Given the description of an element on the screen output the (x, y) to click on. 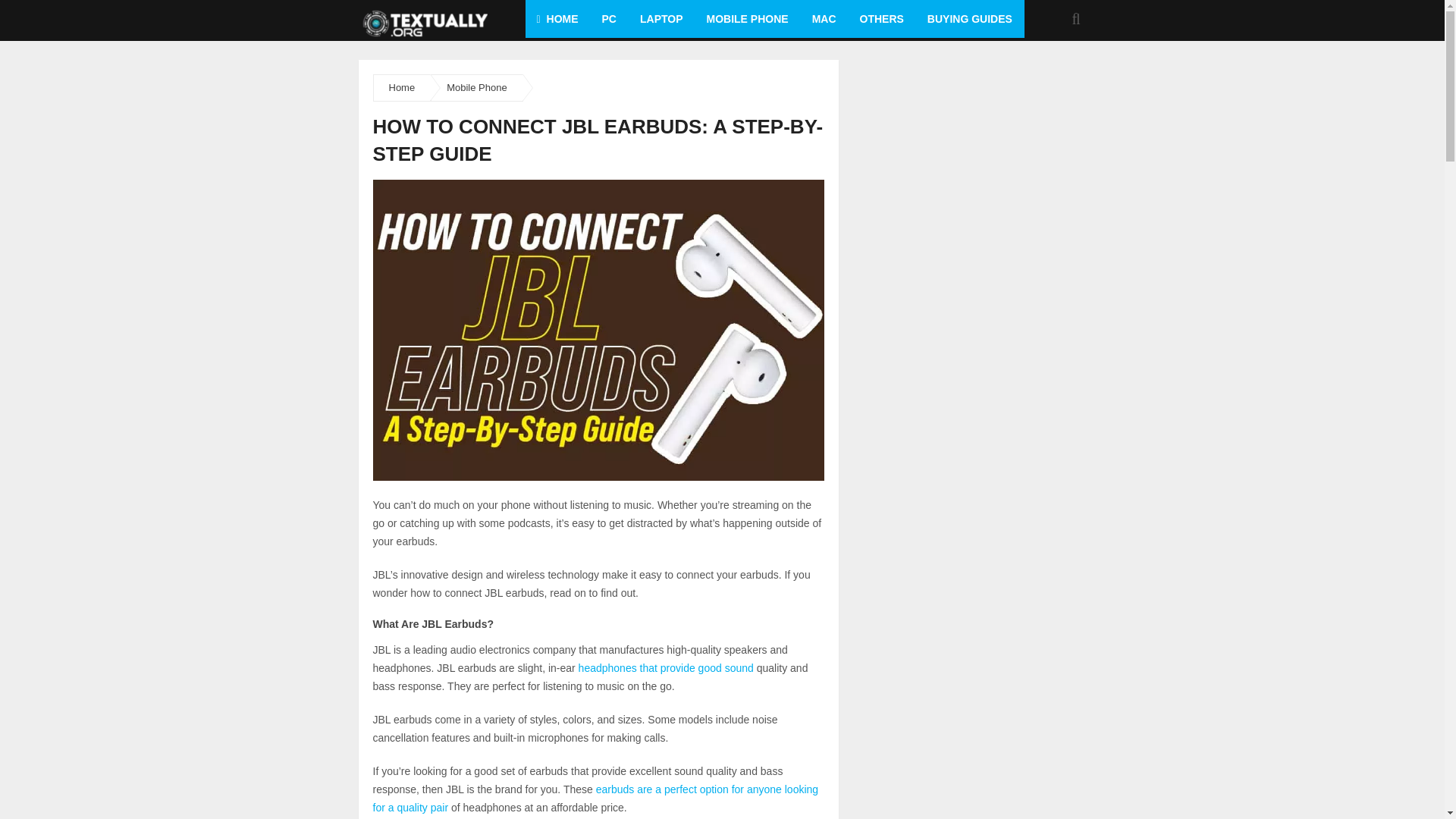
MAC (823, 18)
headphones that provide good sound (666, 667)
Home (401, 87)
MOBILE PHONE (746, 18)
Mobile Phone (476, 87)
LAPTOP (661, 18)
PC (609, 18)
HOME (556, 18)
BUYING GUIDES (969, 18)
